Given the description of an element on the screen output the (x, y) to click on. 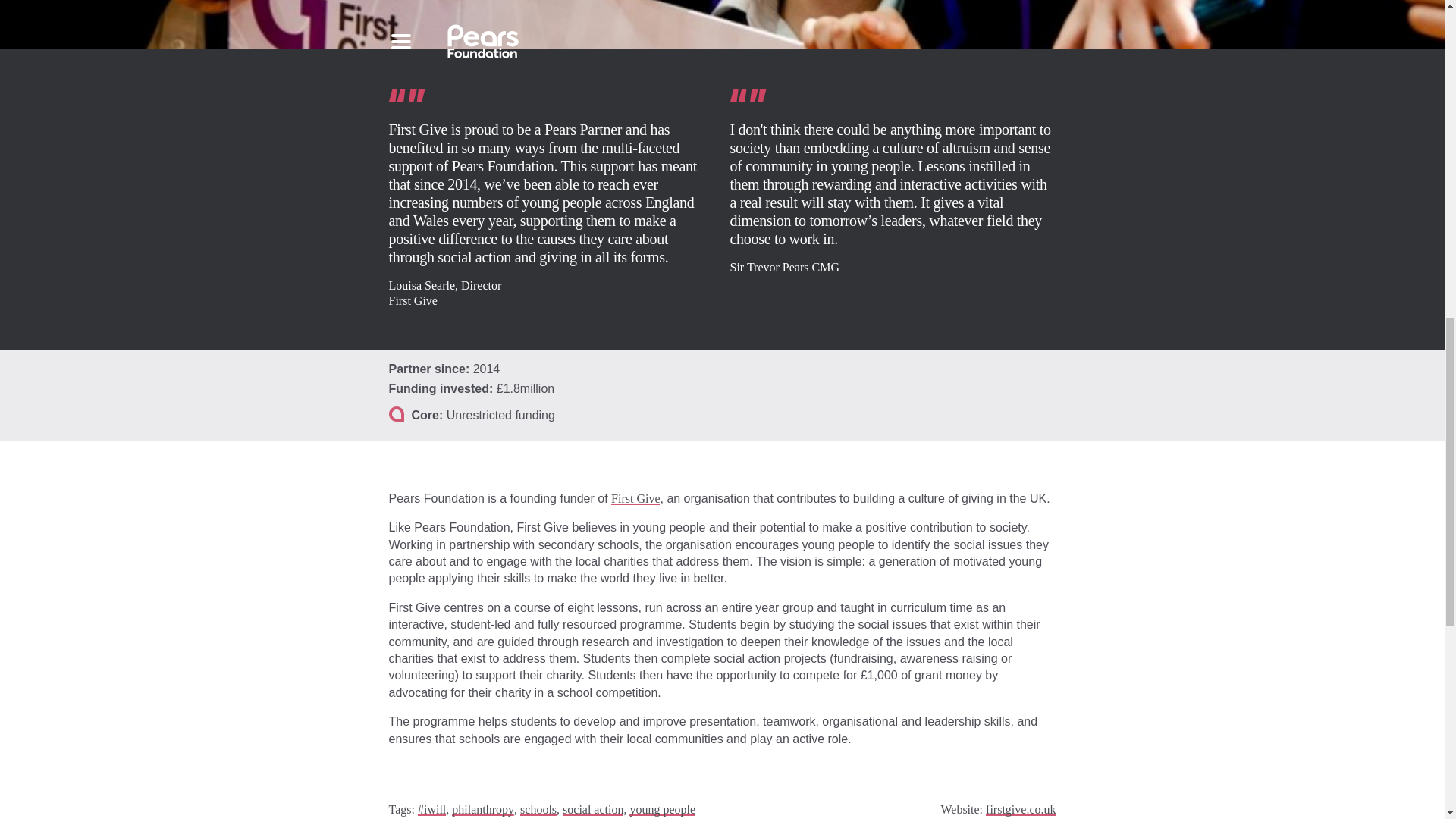
schools (537, 809)
philanthropy (482, 809)
social action (592, 809)
First Give (635, 498)
firstgive.co.uk (1020, 809)
young people (661, 809)
